Given the description of an element on the screen output the (x, y) to click on. 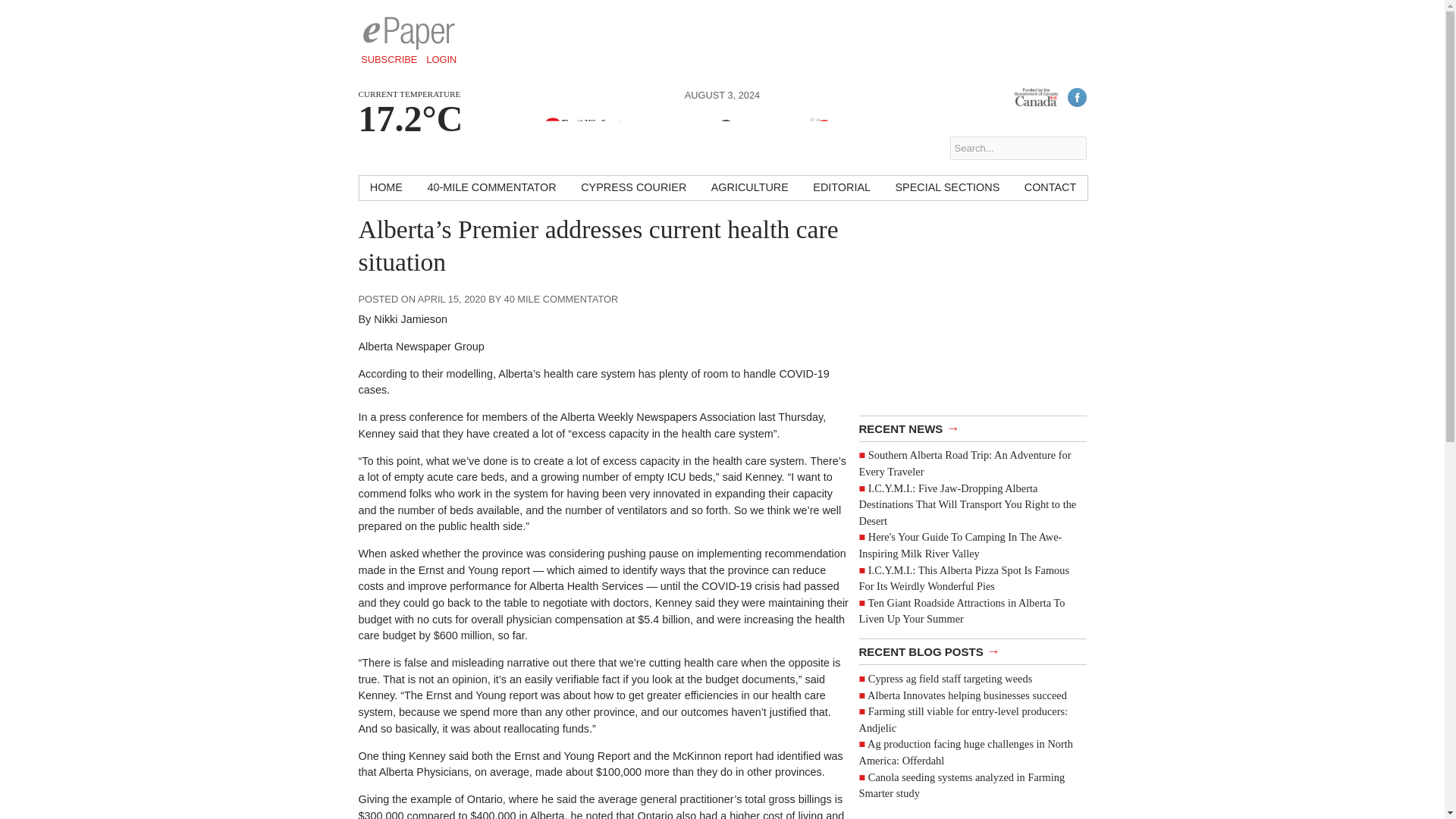
AGRICULTURE (749, 187)
HOME (386, 187)
SUBSCRIBE (389, 58)
LOGIN (441, 58)
EDITORIAL (841, 187)
Cypress ag field staff targeting weeds (949, 678)
SPECIAL SECTIONS (946, 187)
Farming still viable for entry-level producers: Andjelic (963, 719)
Canola seeding systems analyzed in Farming Smarter study (961, 785)
40-MILE COMMENTATOR (491, 187)
